Given the description of an element on the screen output the (x, y) to click on. 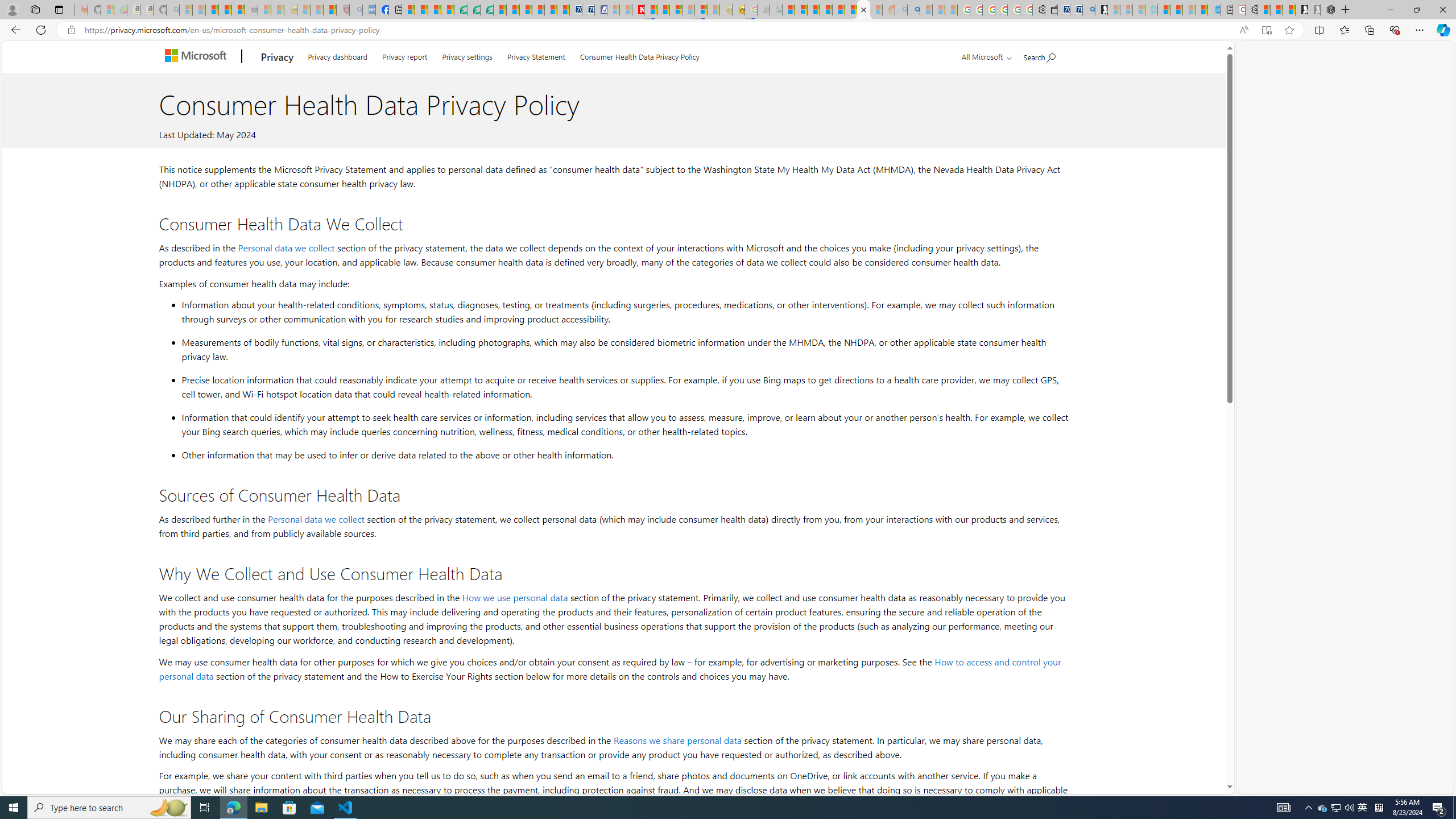
Terms of Use Agreement (473, 9)
Utah sues federal government - Search (913, 9)
Cheap Car Rentals - Save70.com (1076, 9)
World - MSN (434, 9)
How to access and control your personal data (609, 668)
